Given the description of an element on the screen output the (x, y) to click on. 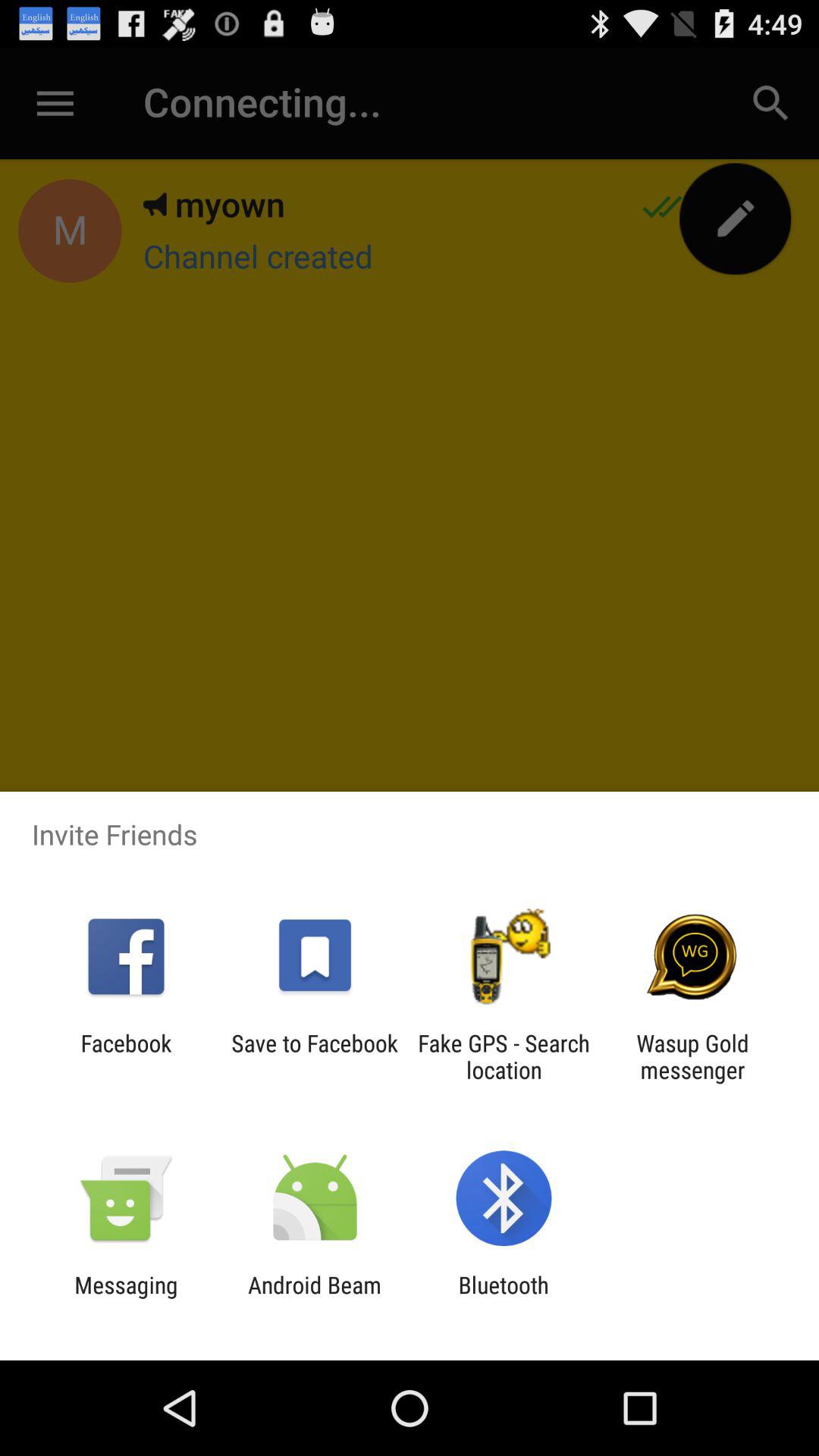
jump to messaging app (126, 1298)
